Given the description of an element on the screen output the (x, y) to click on. 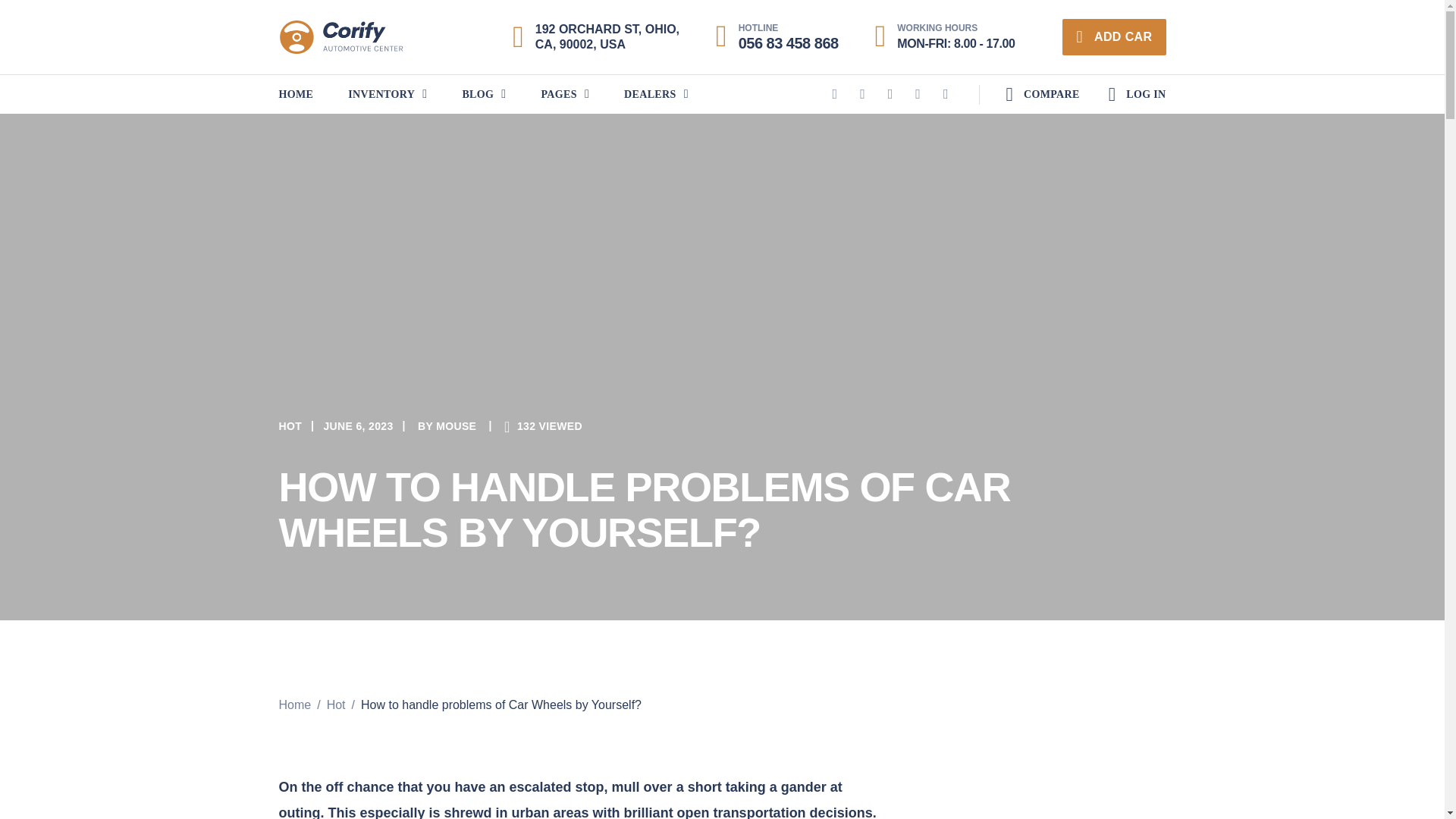
ADD CAR (1114, 36)
BLOG (483, 94)
HOME (305, 94)
HOT (290, 426)
INVENTORY (387, 94)
COMPARE (1016, 94)
DEALERS (656, 94)
056 83 458 868 (788, 43)
LOG IN (1137, 94)
PAGES (564, 94)
